Given the description of an element on the screen output the (x, y) to click on. 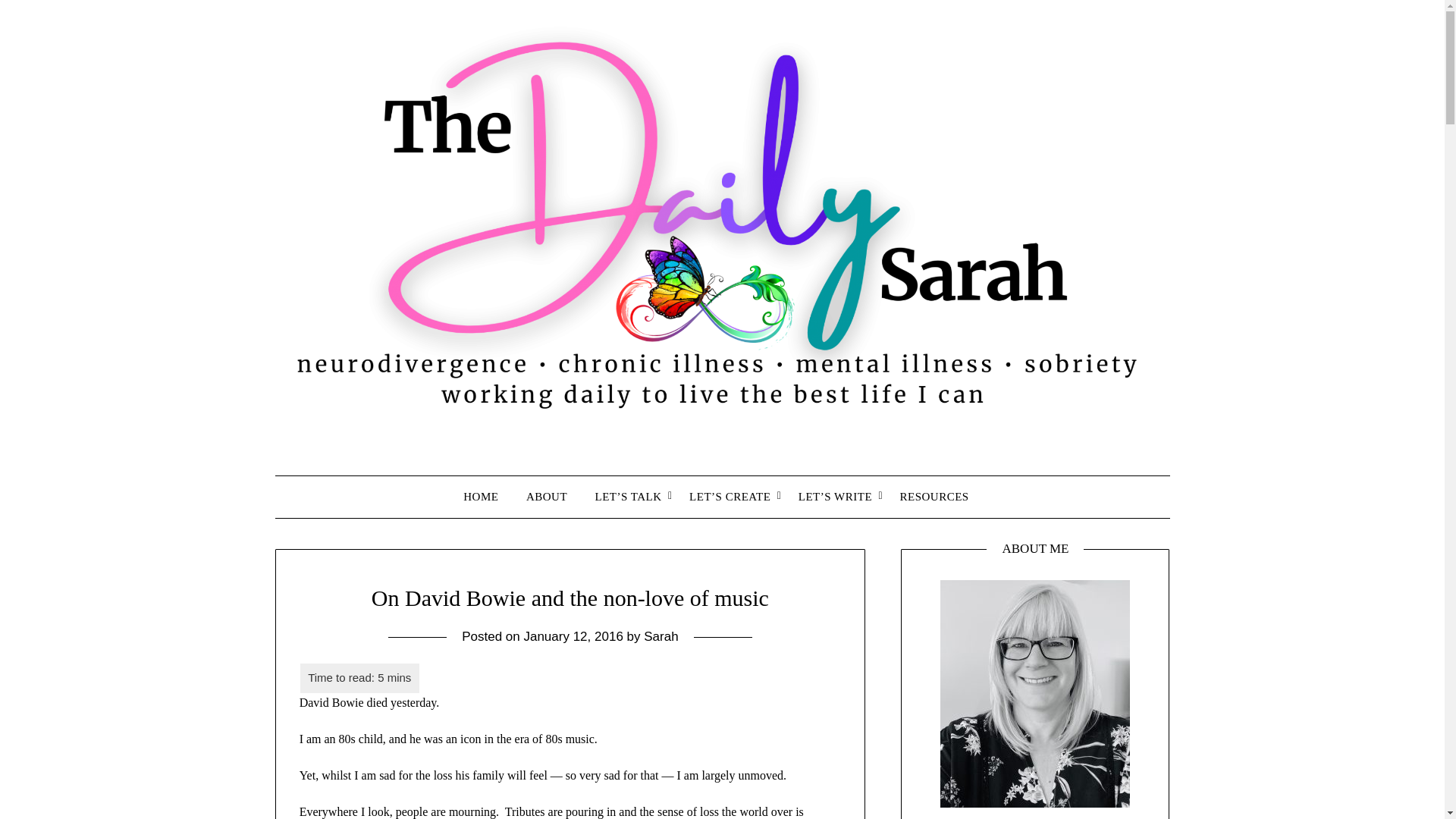
ABOUT (546, 495)
January 12, 2016 (572, 636)
RESOURCES (934, 495)
HOME (487, 495)
